Given the description of an element on the screen output the (x, y) to click on. 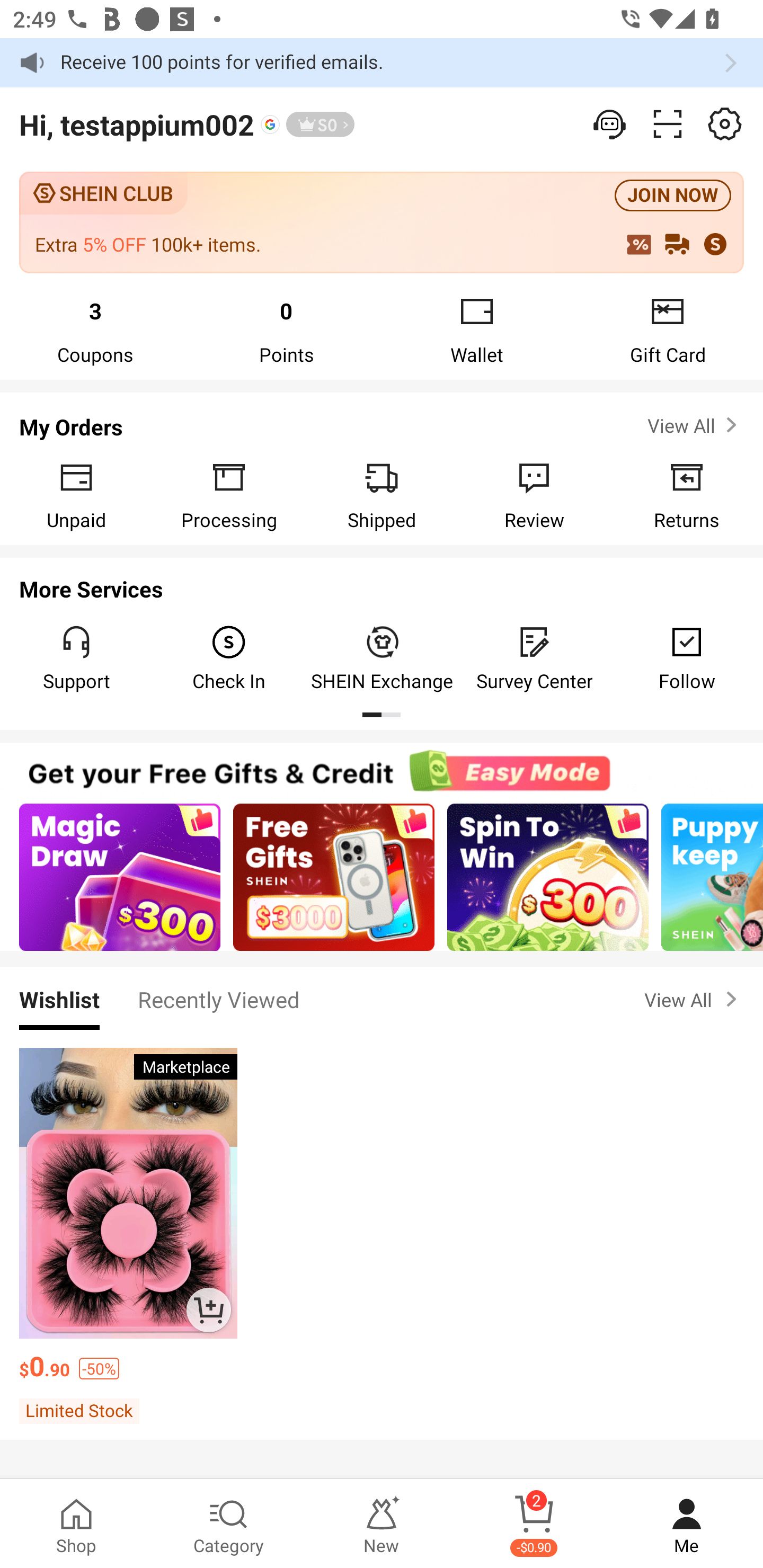
Receive 100 points for verified emails. (381, 62)
Hi, testappium002 (136, 124)
Setting (610, 123)
Scan QR Code (667, 123)
Setting (724, 123)
SHEIN VIP (320, 124)
JOIN NOW Extra 5% OFF 100k+ items. (381, 221)
JOIN NOW (672, 195)
3 Coupons (95, 329)
0 Points (285, 329)
Wallet (476, 329)
Gift Card (667, 329)
View All (693, 424)
Unpaid (76, 495)
Processing (228, 495)
Shipped (381, 495)
Review (533, 495)
Returns (686, 495)
More Services (381, 583)
Support (76, 657)
Check In (228, 657)
SHEIN Exchange (381, 657)
Survey Center (533, 657)
Follow (686, 657)
Wishlist Recently Viewed View All (381, 999)
Recently Viewed (218, 999)
View All (693, 999)
ADD TO CART (208, 1310)
Shop (76, 1523)
Category (228, 1523)
New (381, 1523)
Cart 2 -$0.90 (533, 1523)
